Given the description of an element on the screen output the (x, y) to click on. 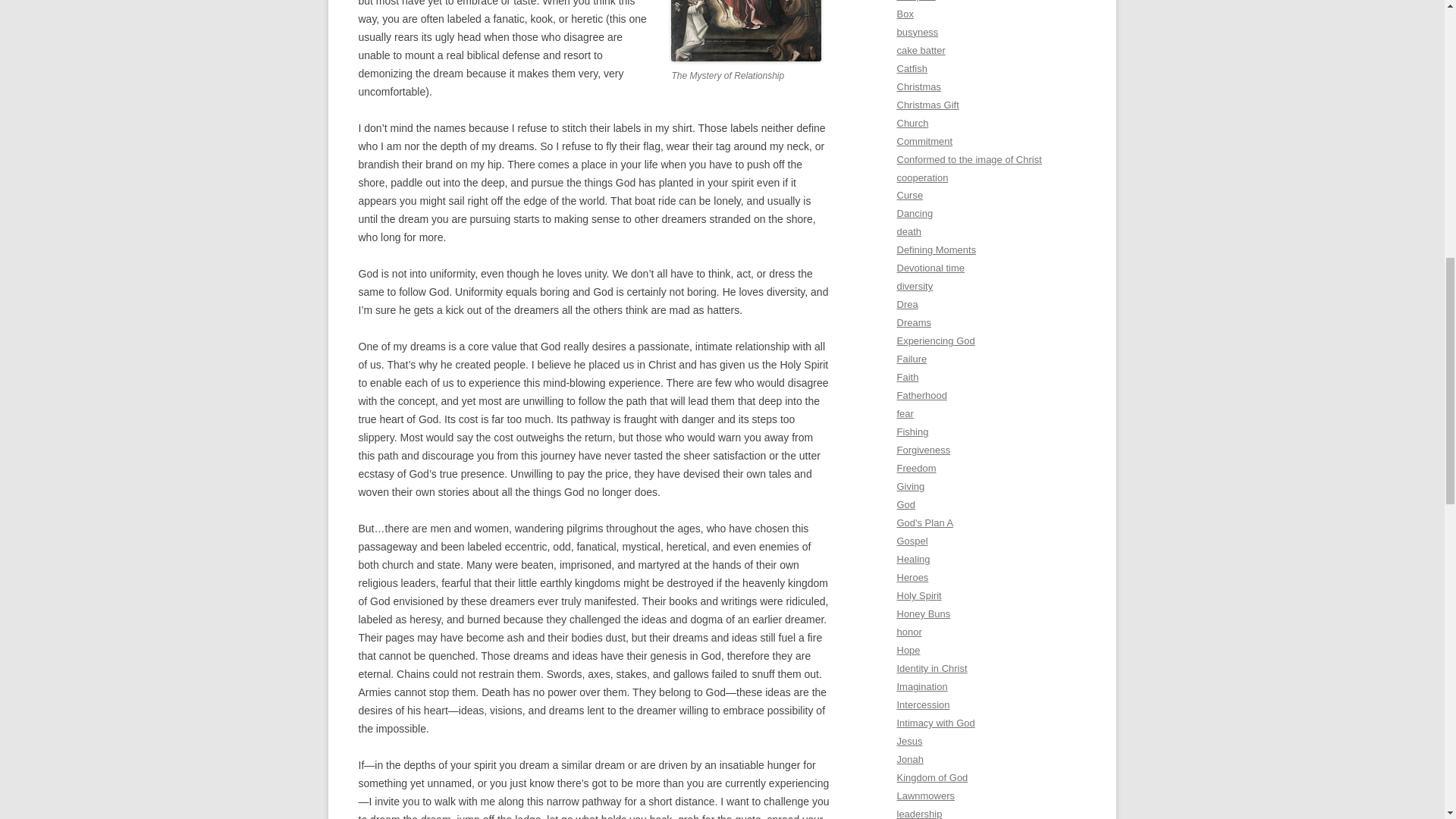
Heart to Heart (746, 31)
